Given the description of an element on the screen output the (x, y) to click on. 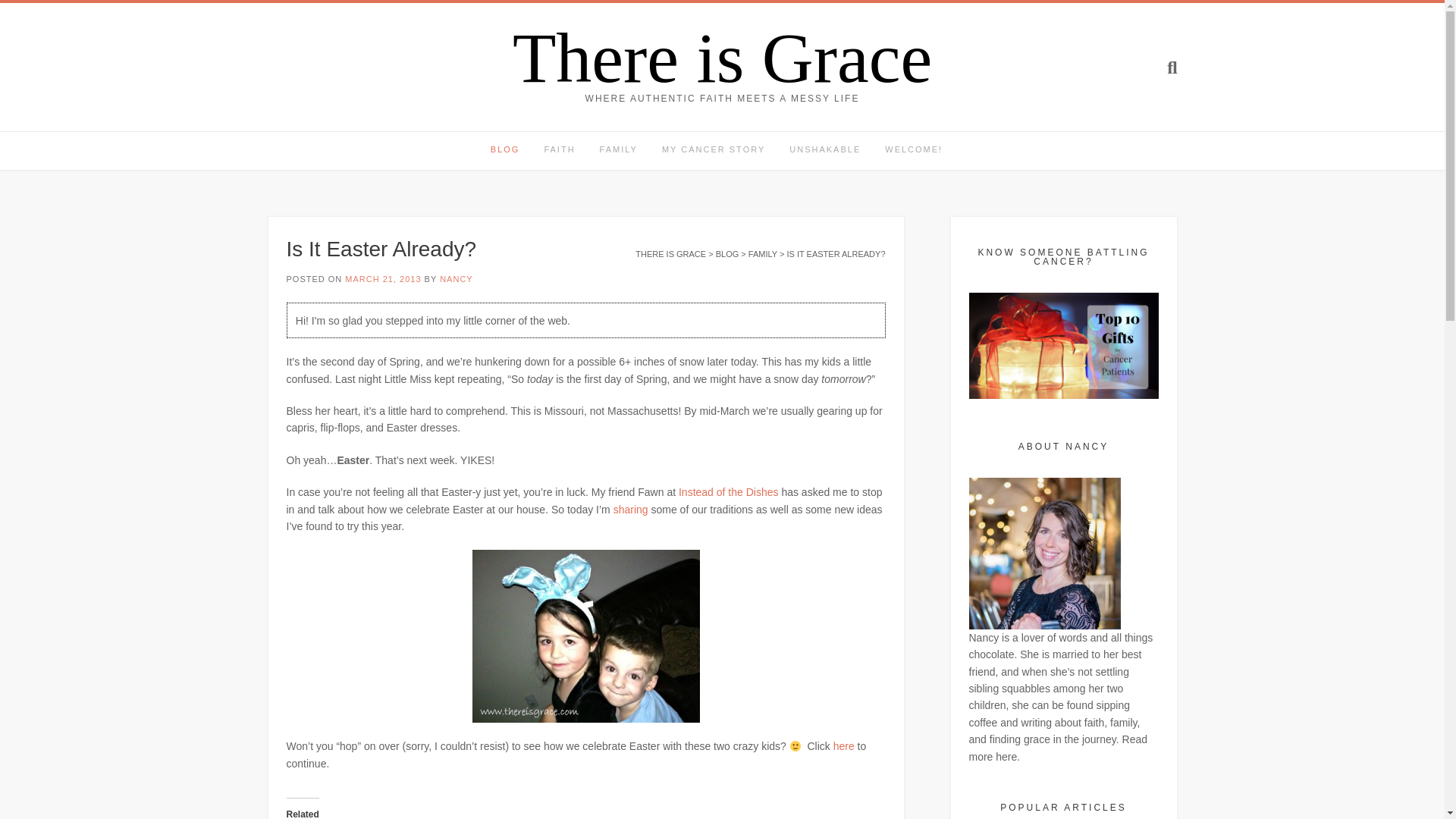
Go to the Family category archives. (762, 253)
BLOG (727, 253)
MARCH 21, 2013 (382, 278)
sharing (631, 509)
There is Grace (721, 57)
here (843, 746)
NANCY (456, 278)
FAMILY (618, 150)
FAMILY (762, 253)
WELCOME! (913, 150)
THERE IS GRACE (670, 253)
There is Grace (721, 57)
Instead of the Dishes (729, 491)
BLOG (510, 150)
FAITH (558, 150)
